Given the description of an element on the screen output the (x, y) to click on. 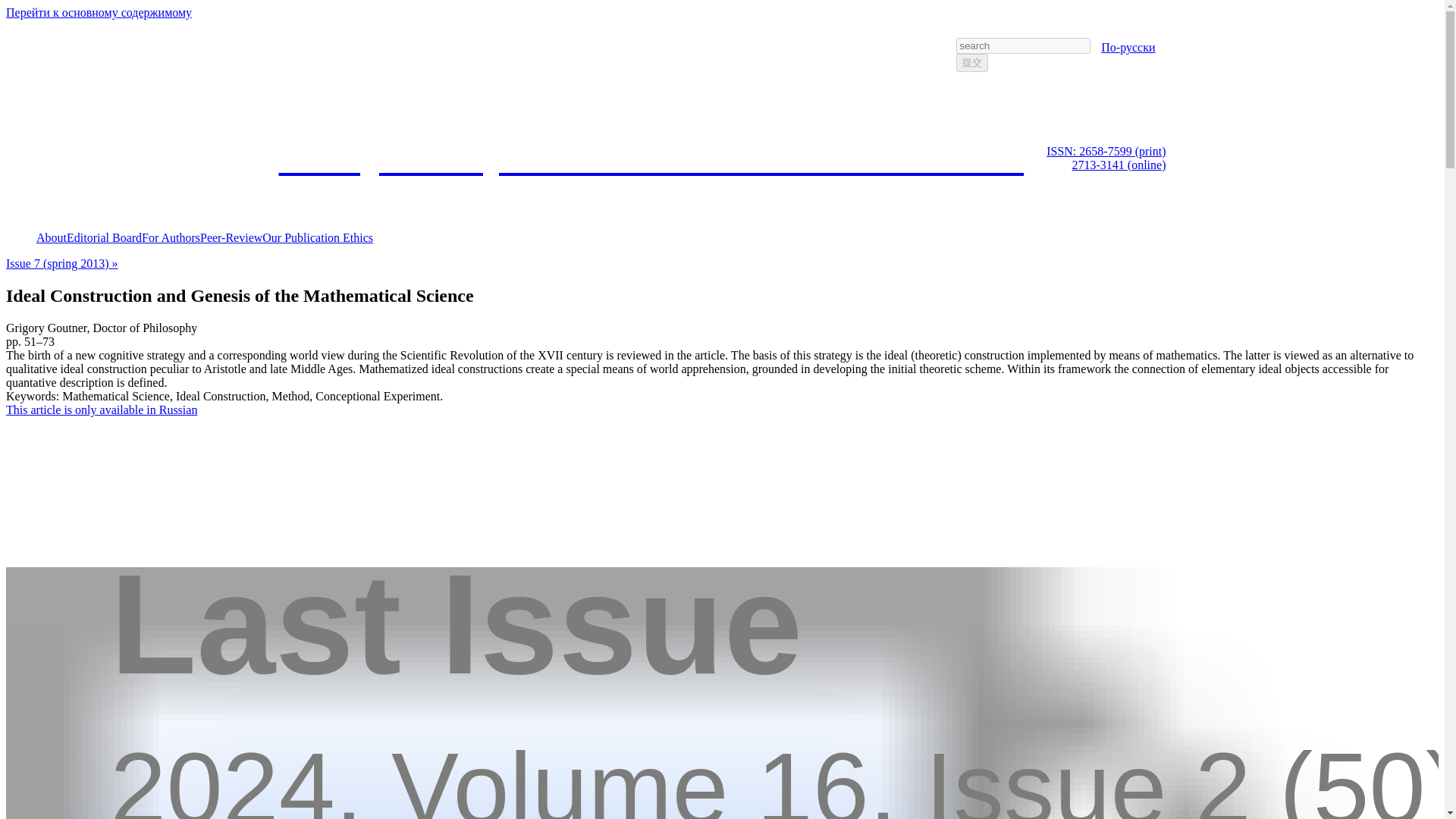
For Authors (170, 237)
search (972, 63)
Editorial Board (103, 237)
About (51, 237)
Peer-Review (231, 237)
Our Publication Ethics (317, 237)
